Given the description of an element on the screen output the (x, y) to click on. 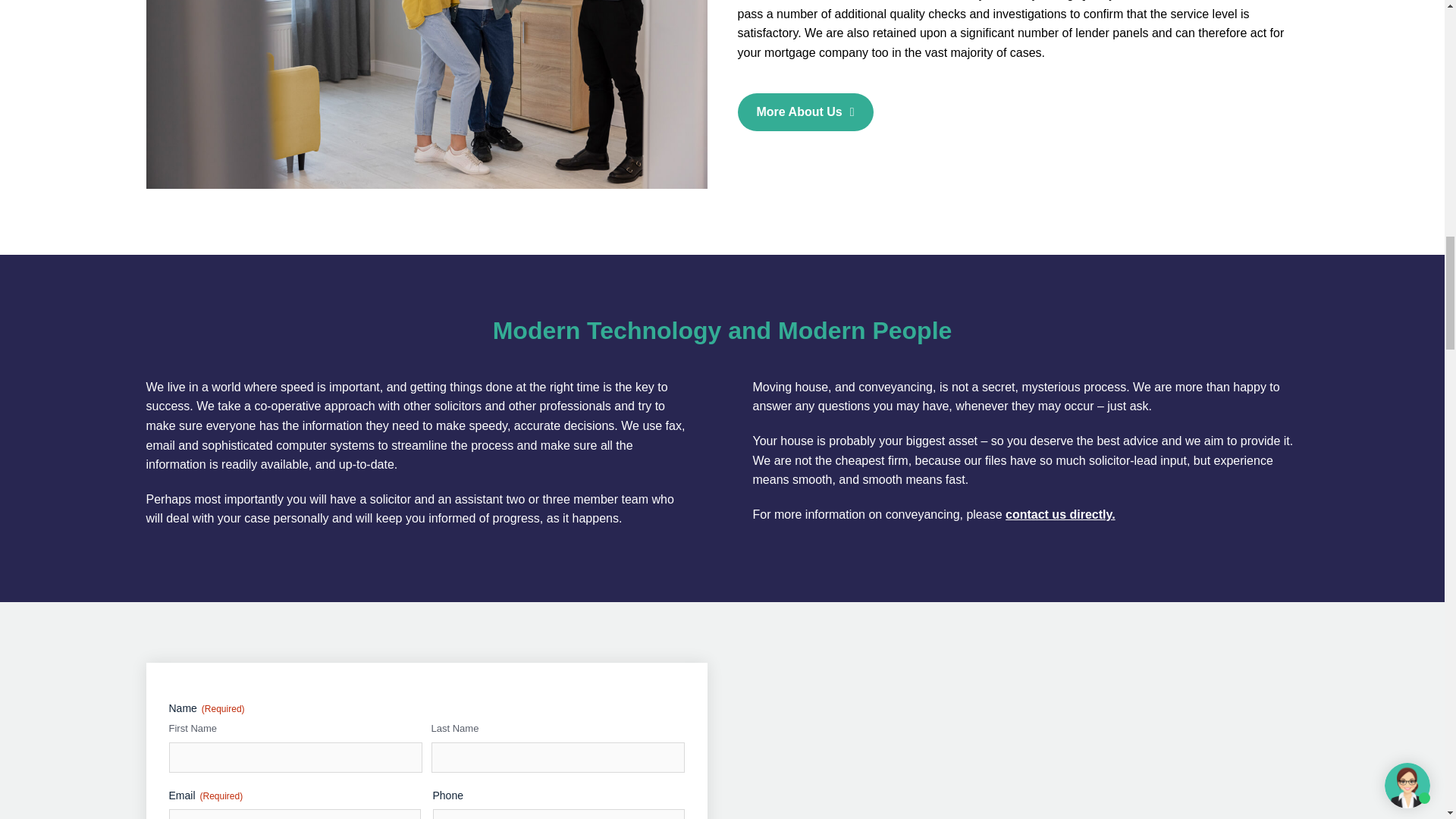
Contact Us (1060, 513)
